Given the description of an element on the screen output the (x, y) to click on. 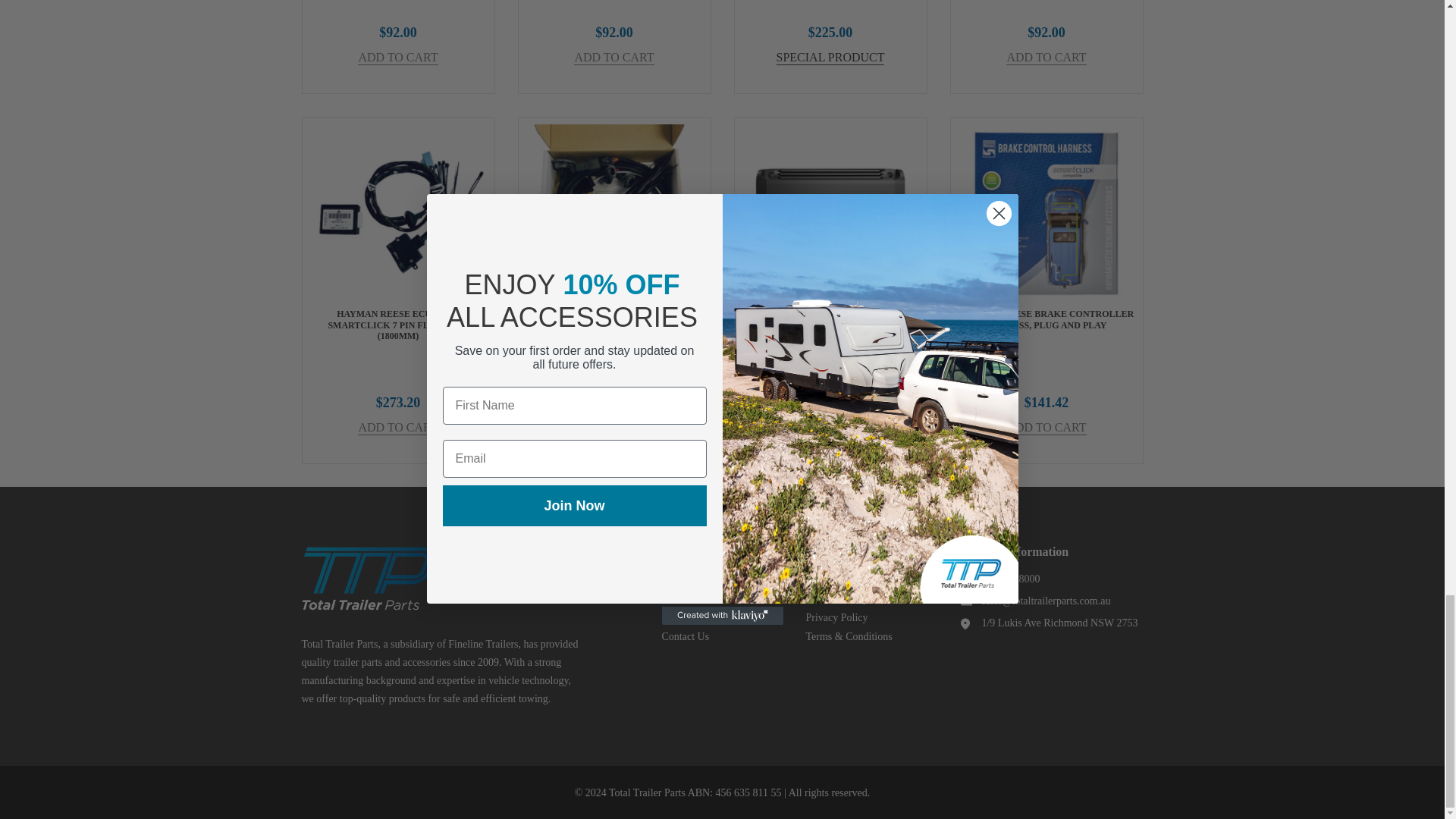
Notify for Special Product (830, 57)
